Given the description of an element on the screen output the (x, y) to click on. 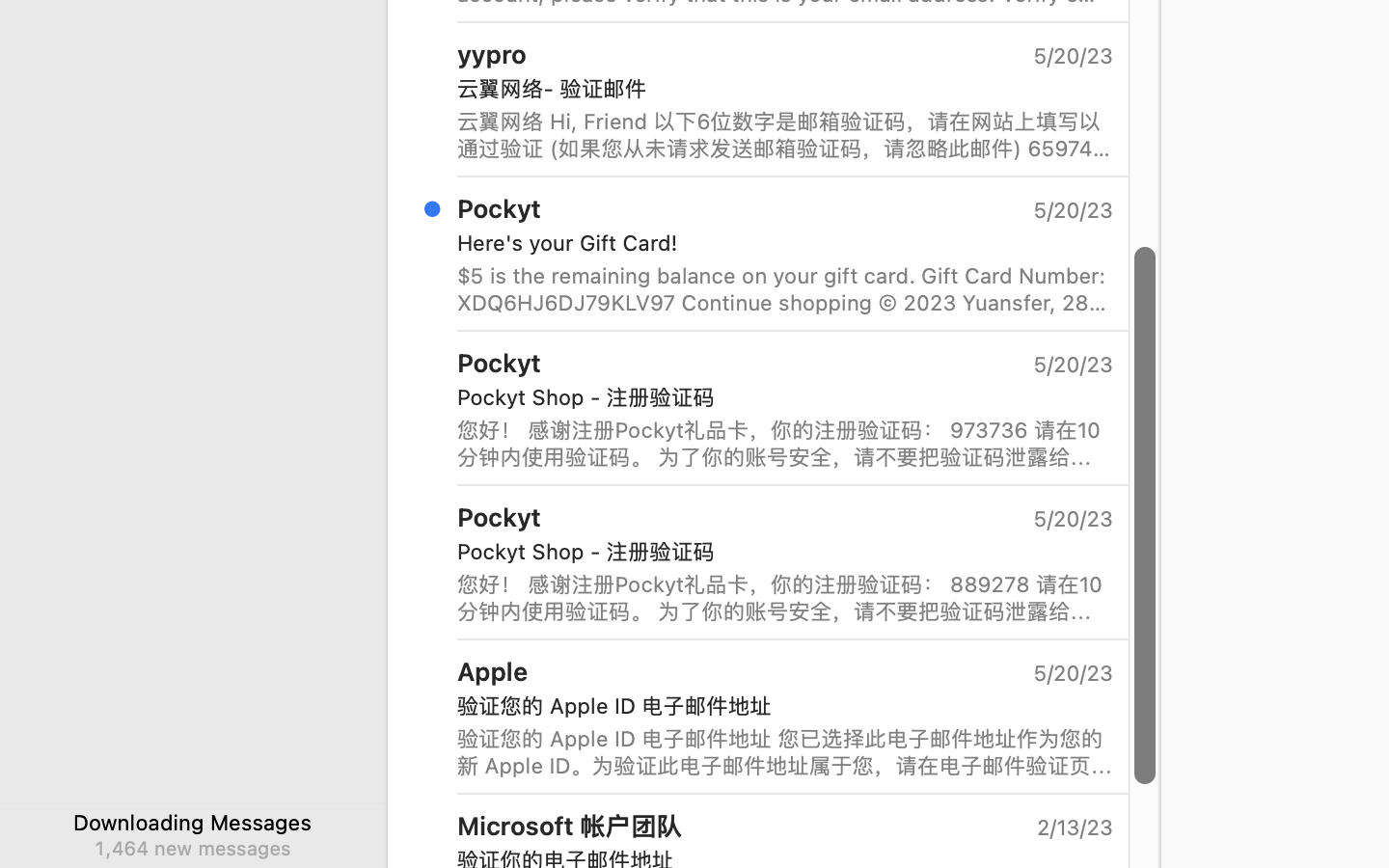
2/13/23 Element type: AXStaticText (1073, 826)
5/20/23 Element type: AXStaticText (1071, 672)
Apple Element type: AXStaticText (492, 670)
Pockyt Shop - 注册验证码 Element type: AXStaticText (777, 551)
云翼网络- 验证邮件 Element type: AXStaticText (777, 88)
